Given the description of an element on the screen output the (x, y) to click on. 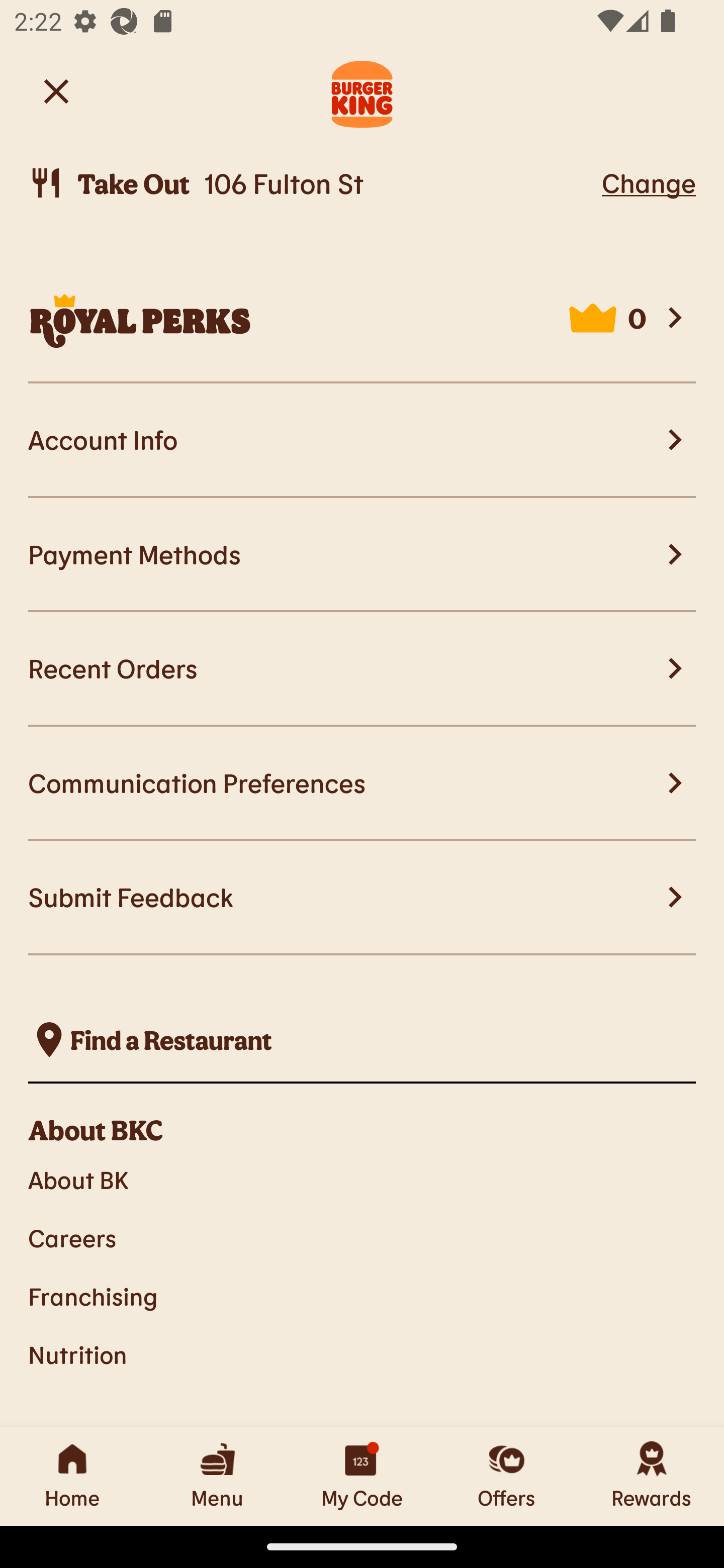
Burger King Logo. Navigate to Home (362, 91)
Back  (56, 90)
Take Out, 106 Fulton St  Take Out 106 Fulton St (311, 183)
Change (648, 182)
Account Info Account Info  (361, 441)
Payment Methods Payment Methods  (361, 554)
Recent Orders Recent Orders  (361, 668)
Submit Feedback Submit Feedback  (361, 897)
, Find a Restaurant  Find a Restaurant (361, 1040)
About BK (361, 1178)
Careers (361, 1237)
Franchising (361, 1295)
Nutrition (361, 1354)
Home (72, 1475)
Menu (216, 1475)
My Code (361, 1475)
Offers (506, 1475)
Rewards (651, 1475)
